Given the description of an element on the screen output the (x, y) to click on. 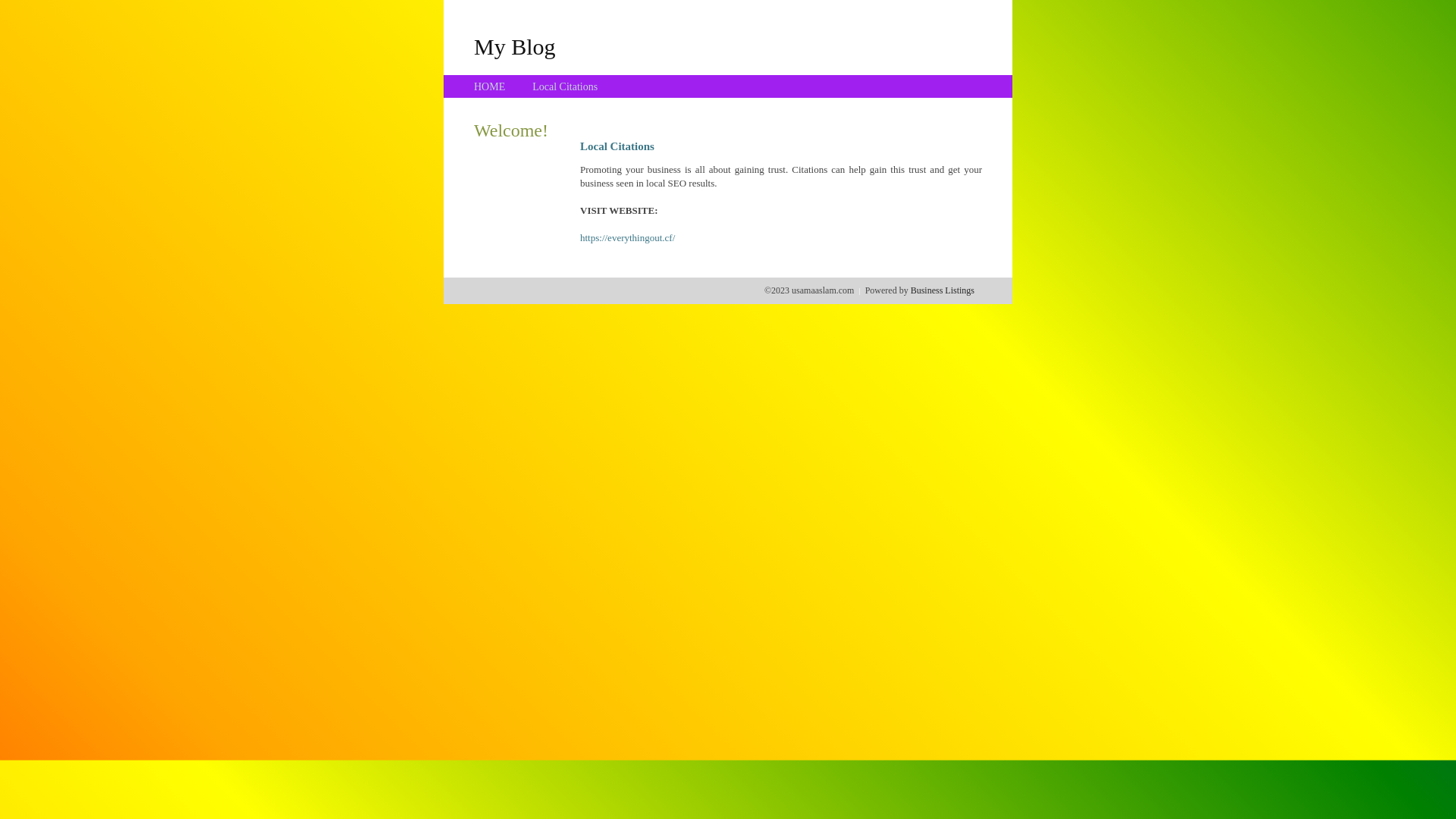
My Blog Element type: text (514, 46)
Local Citations Element type: text (564, 86)
HOME Element type: text (489, 86)
https://everythingout.cf/ Element type: text (627, 237)
Business Listings Element type: text (942, 290)
